Given the description of an element on the screen output the (x, y) to click on. 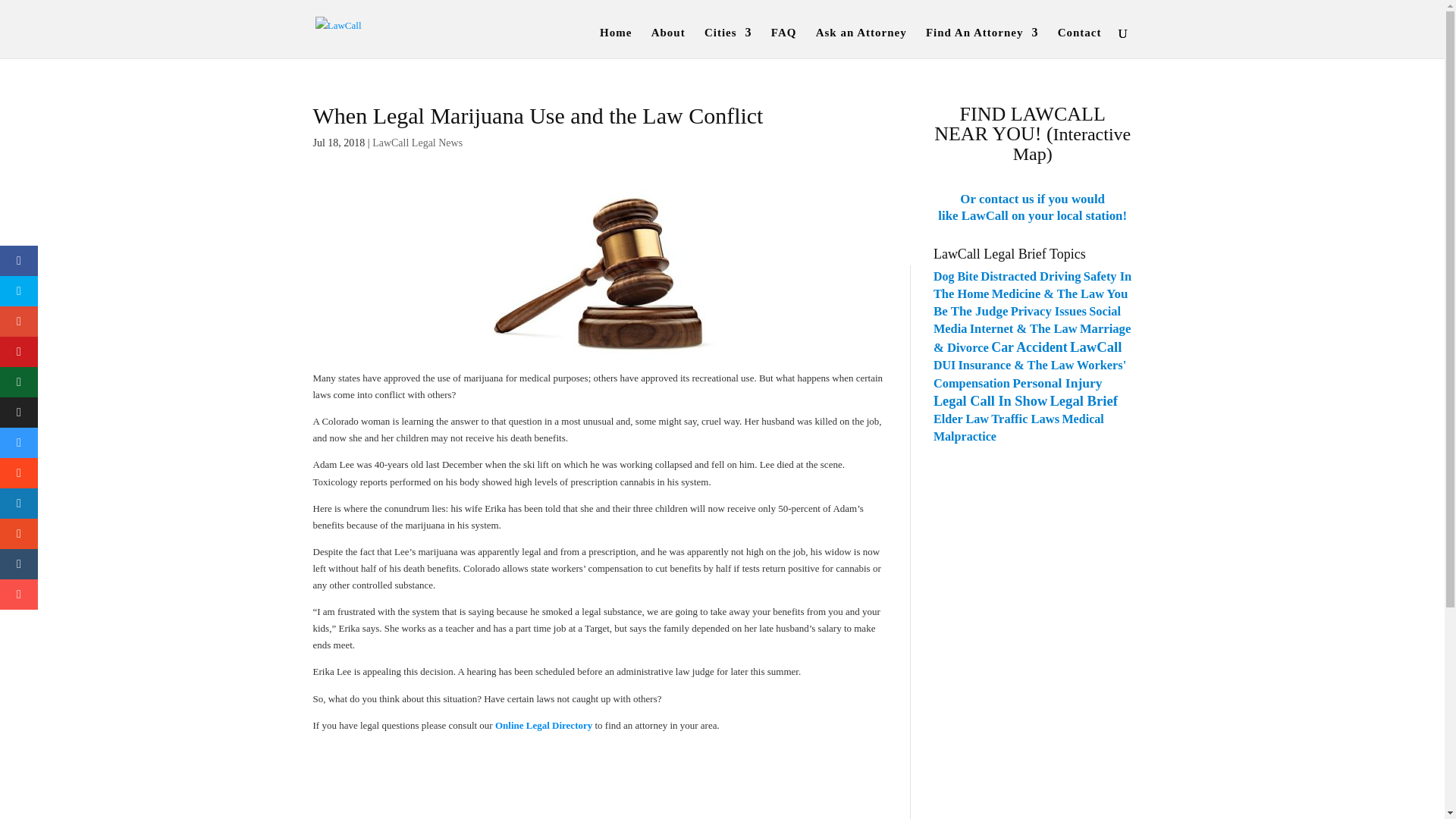
Contact (1080, 42)
Cities (728, 42)
LawCall Legal News (417, 142)
About (667, 42)
Home (615, 42)
Find An Attorney (982, 42)
Online Legal Directory (543, 725)
Ask an Attorney (861, 42)
